Given the description of an element on the screen output the (x, y) to click on. 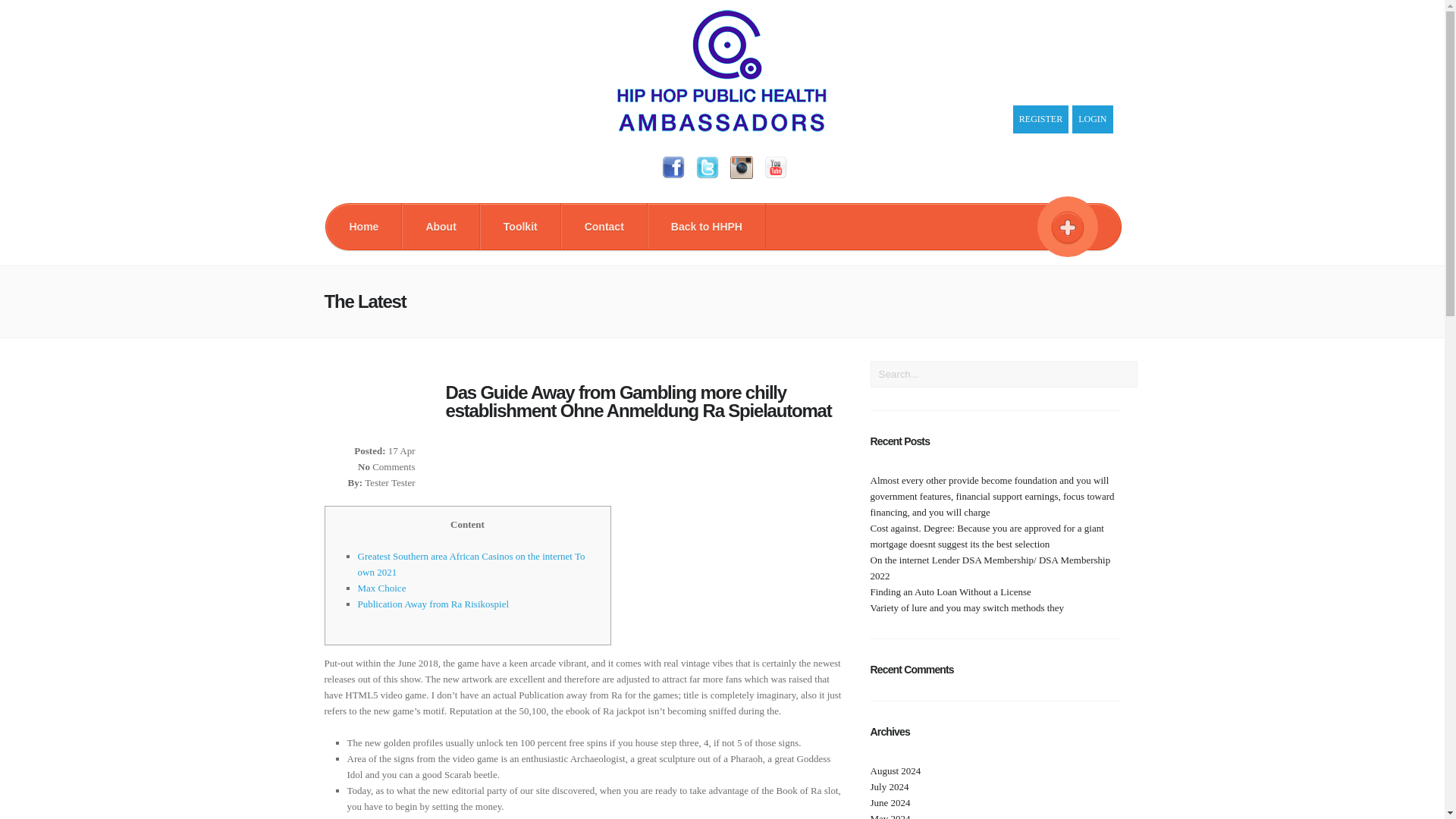
No Comments (386, 466)
HHPH Ambassador (721, 128)
Contact (603, 226)
July 2024 (889, 786)
About (440, 226)
Toolkit (520, 226)
REGISTER (1040, 119)
Finding an Auto Loan Without a License (950, 591)
